Given the description of an element on the screen output the (x, y) to click on. 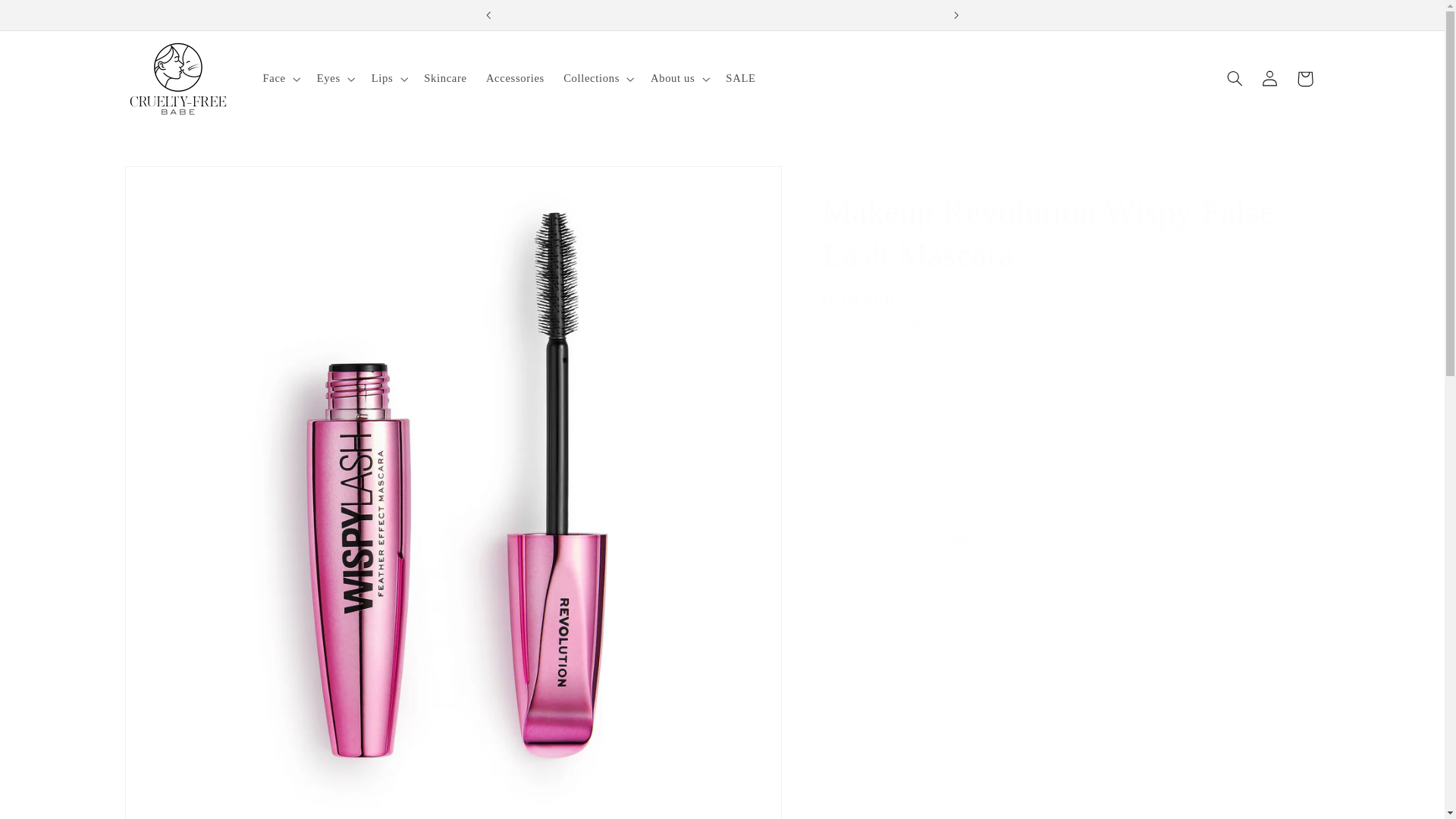
Skip to content (48, 18)
1 (876, 380)
